Given the description of an element on the screen output the (x, y) to click on. 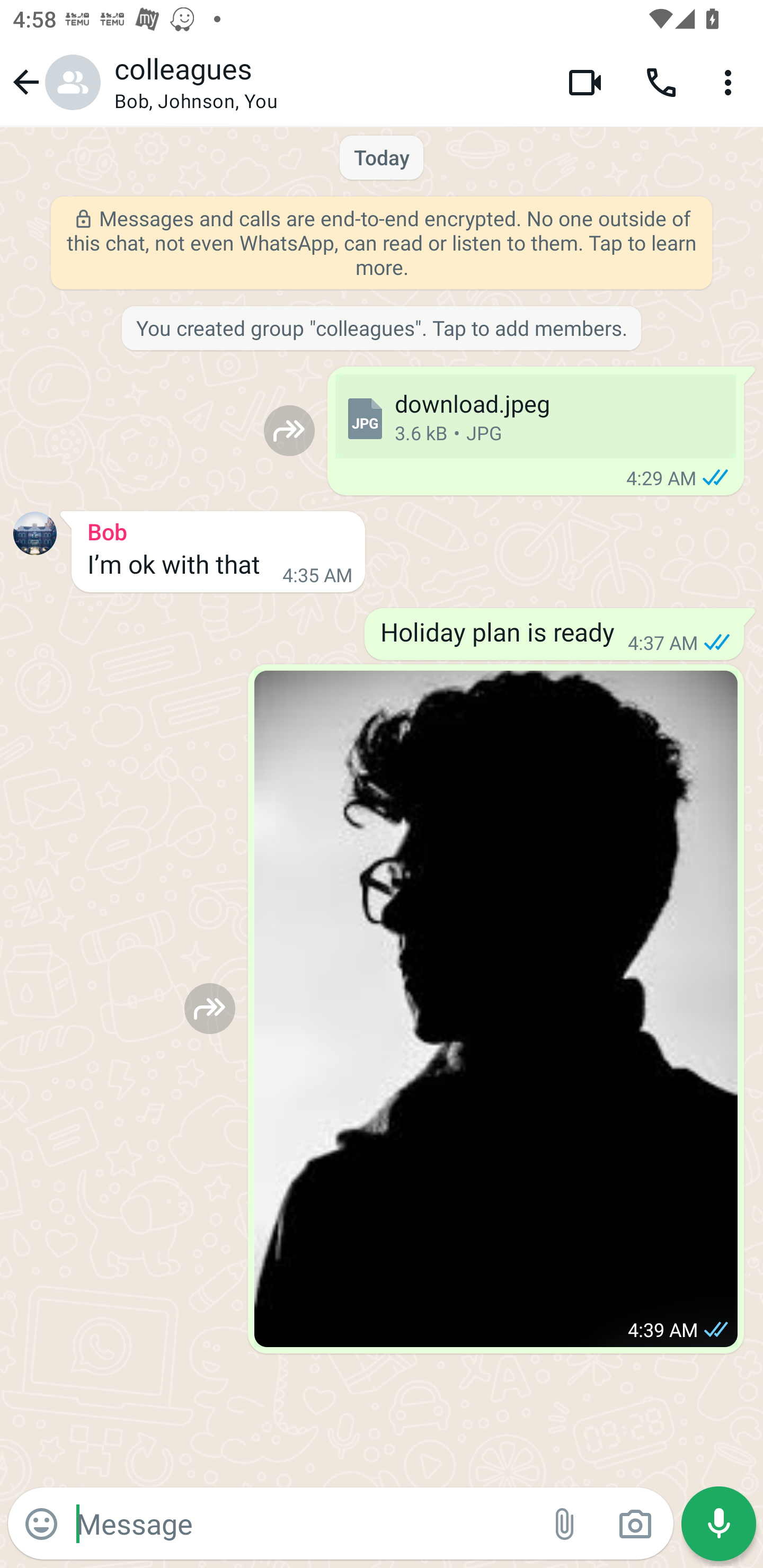
colleagues Bob, Johnson, You (327, 82)
Navigate up (54, 82)
Video call (585, 81)
Voice call (661, 81)
More options (731, 81)
download.jpeg 3.6 kB • JPG (535, 415)
Forward to… (288, 430)
Profile picture for Bob (34, 533)
Bob (217, 529)
View photo (495, 1008)
Forward to… (209, 1008)
Emoji (41, 1523)
Attach (565, 1523)
Camera (634, 1523)
Message (303, 1523)
